Given the description of an element on the screen output the (x, y) to click on. 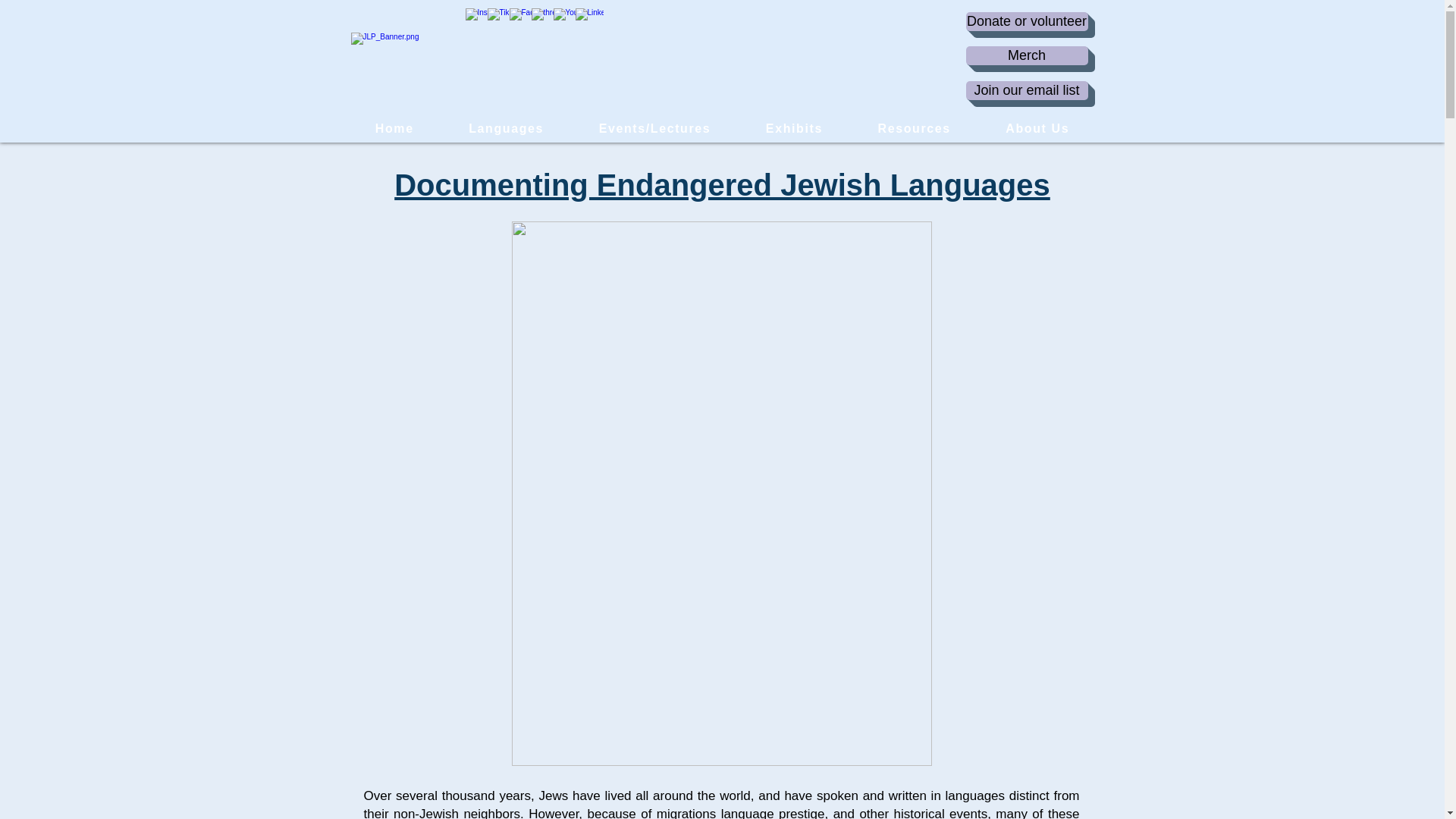
Donate or volunteer (1026, 21)
Join our email list (1026, 90)
Languages (505, 128)
Merch (1026, 55)
Home (394, 128)
